Given the description of an element on the screen output the (x, y) to click on. 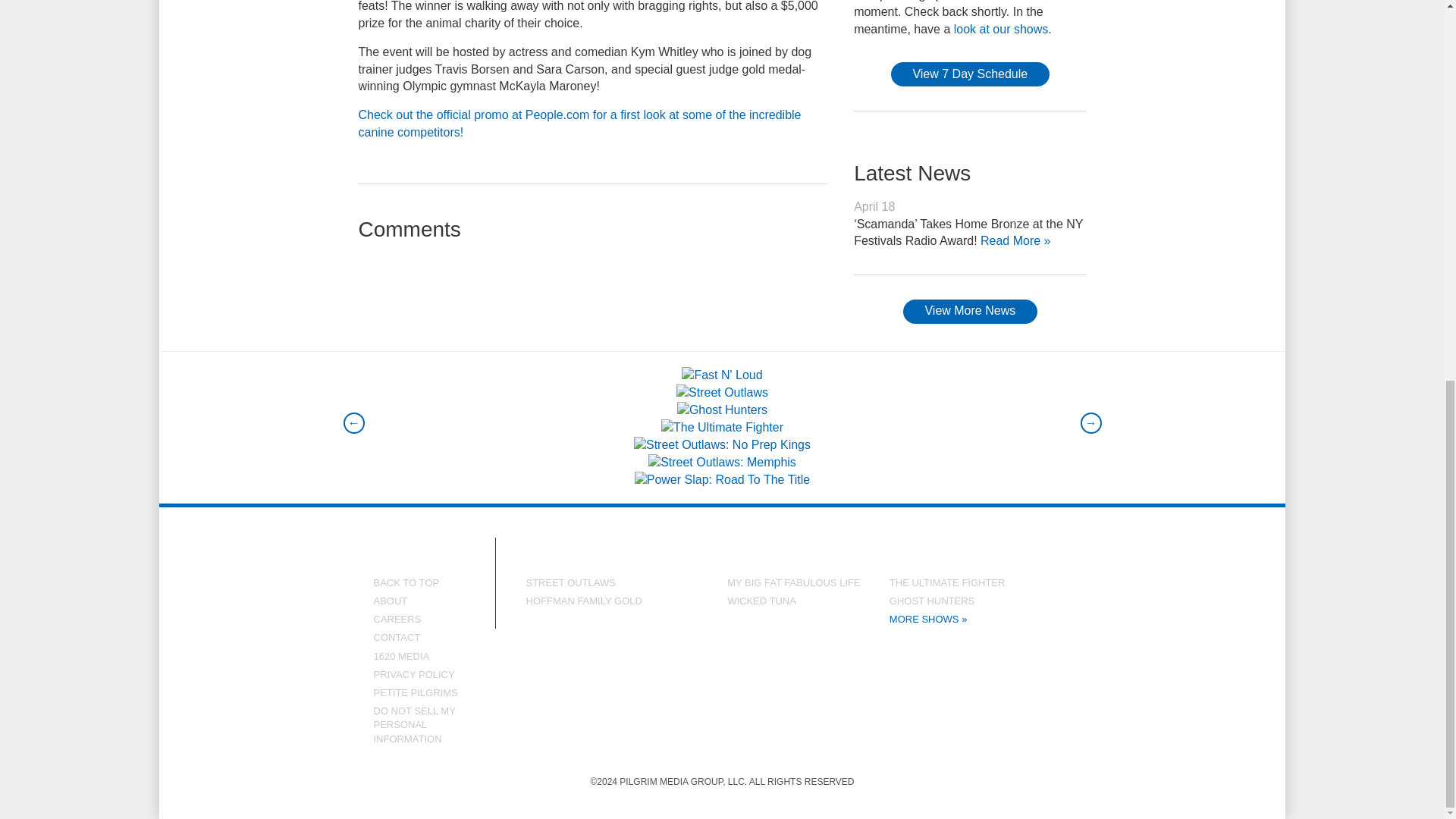
View More News (969, 311)
PETITE PILGRIMS (418, 692)
View 7 Day Schedule (970, 74)
PRIVACY POLICY (418, 674)
View 7 Day Schedule (970, 74)
More Shows (980, 619)
CAREERS (418, 619)
ABOUT (418, 601)
1620 MEDIA (418, 656)
